Given the description of an element on the screen output the (x, y) to click on. 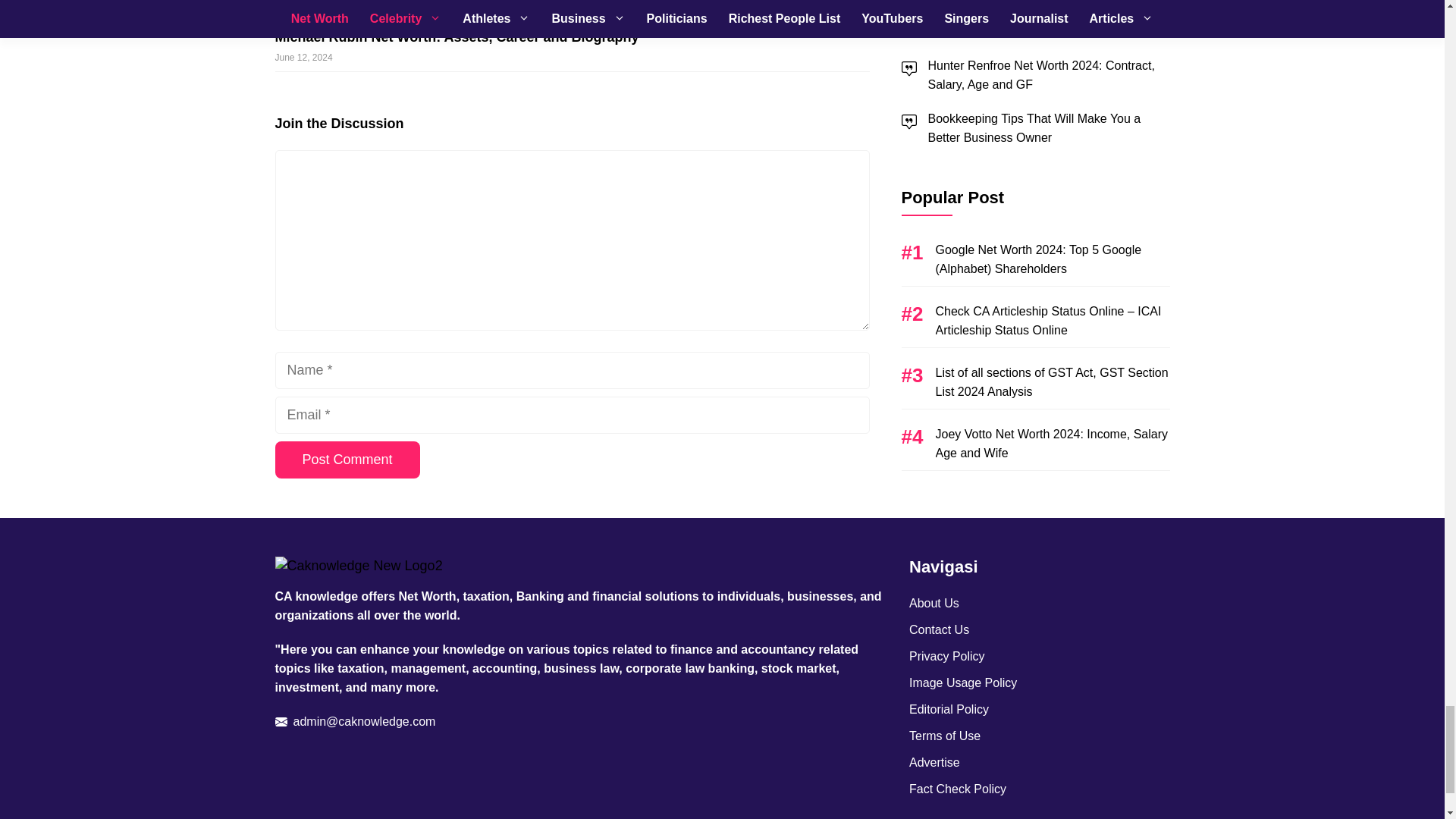
Post Comment (347, 459)
